Given the description of an element on the screen output the (x, y) to click on. 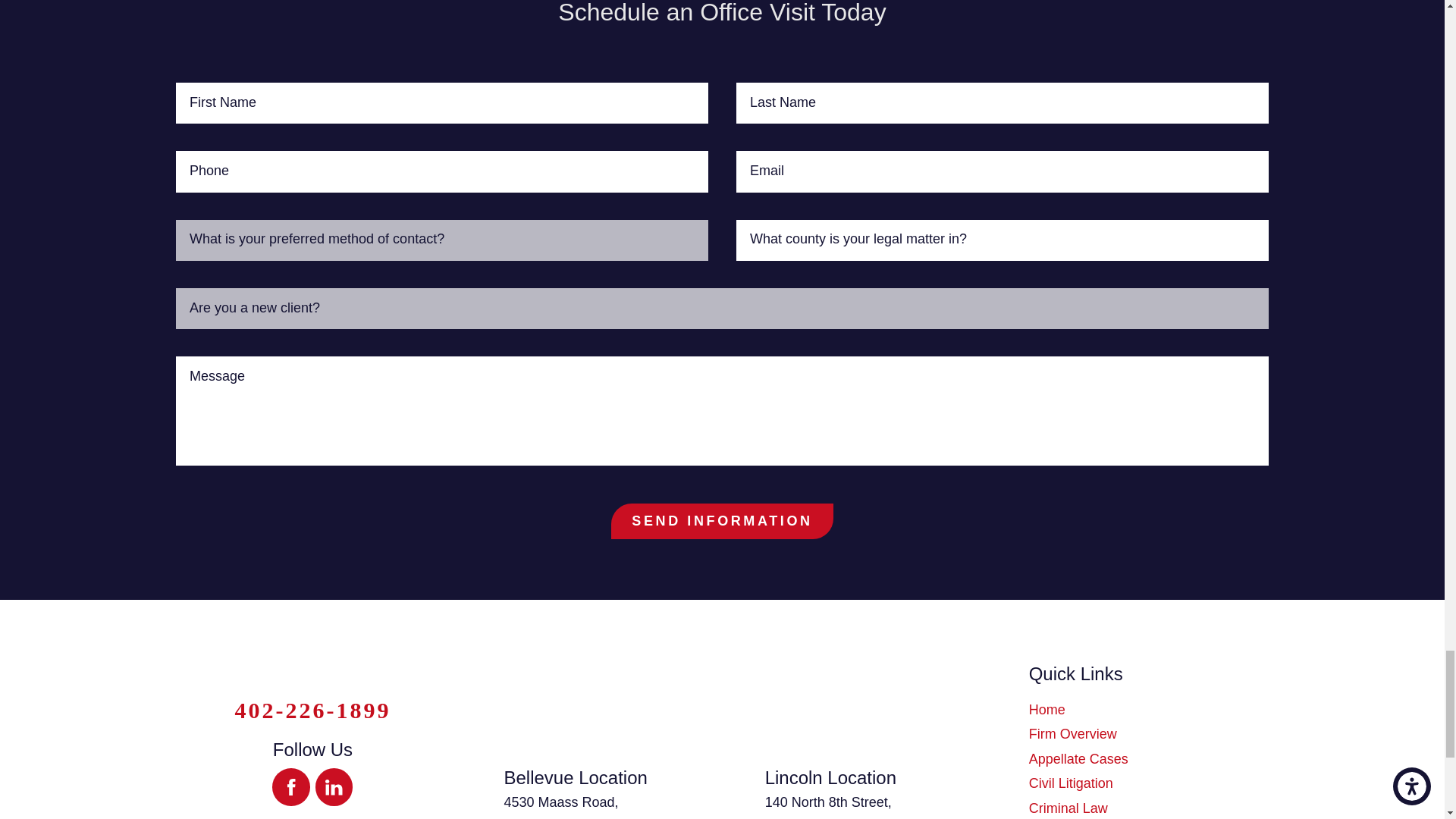
Facebook (291, 786)
